Given the description of an element on the screen output the (x, y) to click on. 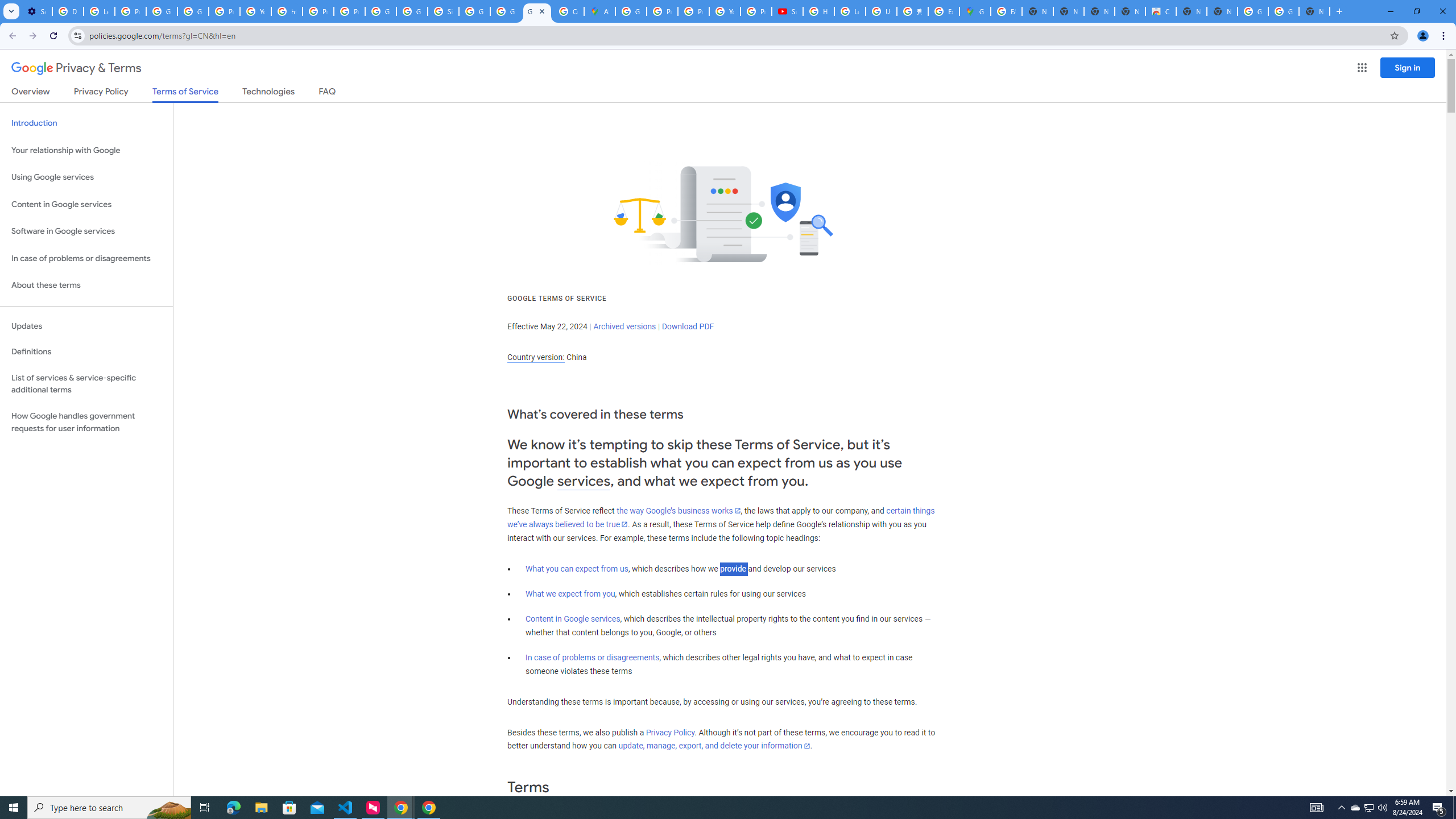
Software in Google services (86, 230)
Sign in - Google Accounts (443, 11)
What you can expect from us (576, 568)
How Chrome protects your passwords - Google Chrome Help (818, 11)
Terms of Service (184, 94)
Download PDF (687, 326)
services (583, 480)
